Given the description of an element on the screen output the (x, y) to click on. 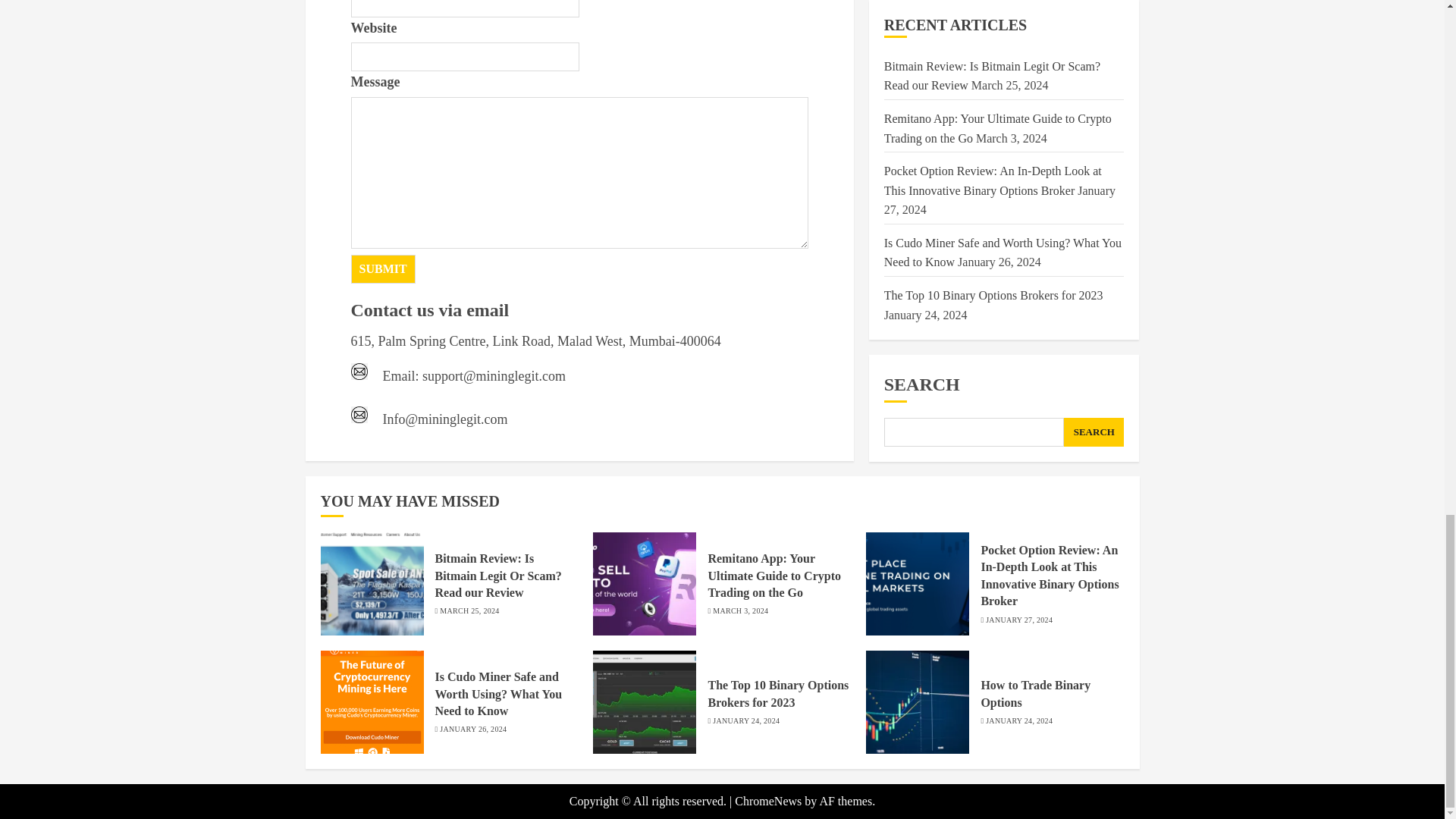
SUBMIT (382, 268)
